Given the description of an element on the screen output the (x, y) to click on. 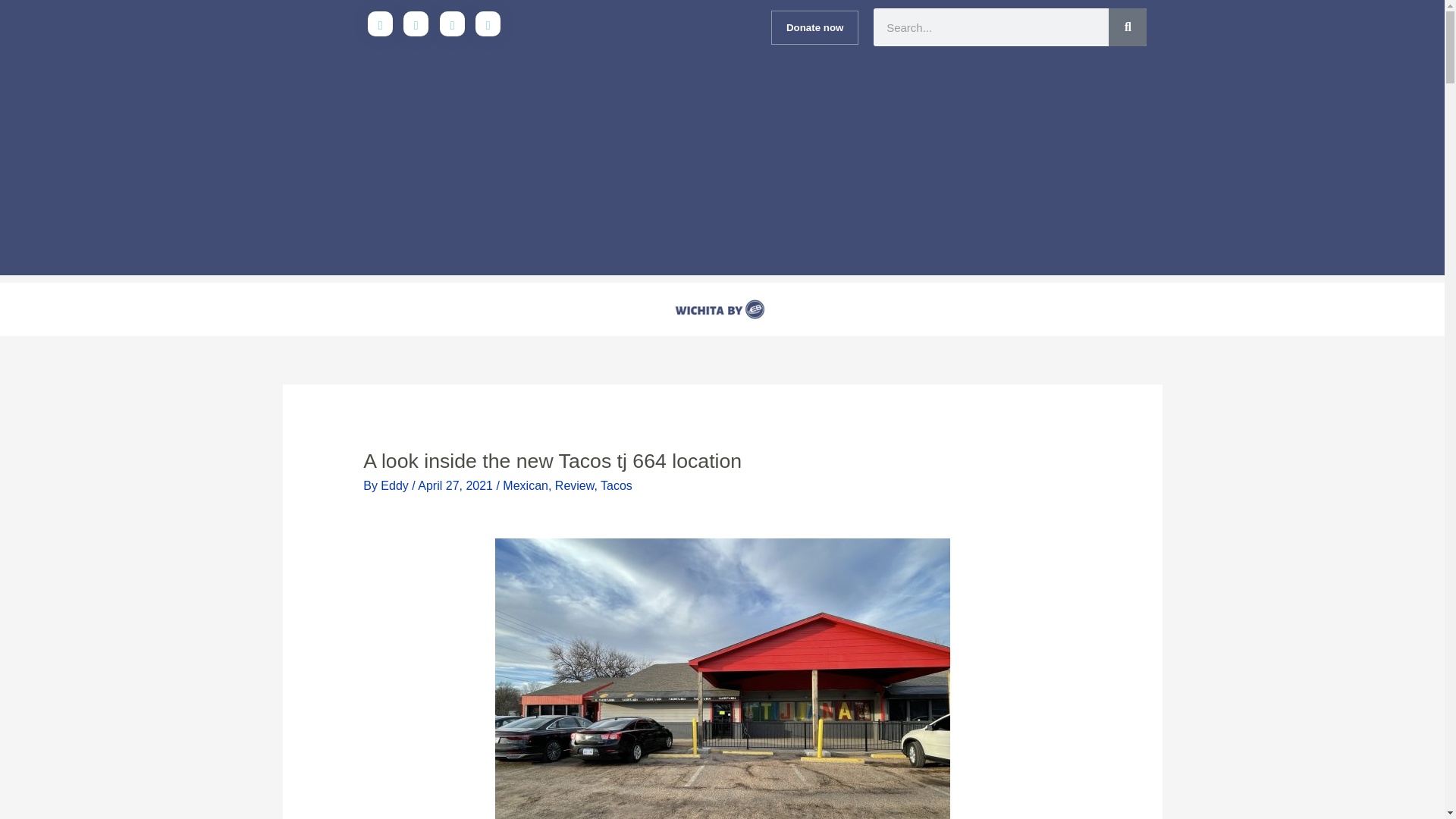
View all posts by Eddy (396, 485)
Donate now (815, 27)
